Given the description of an element on the screen output the (x, y) to click on. 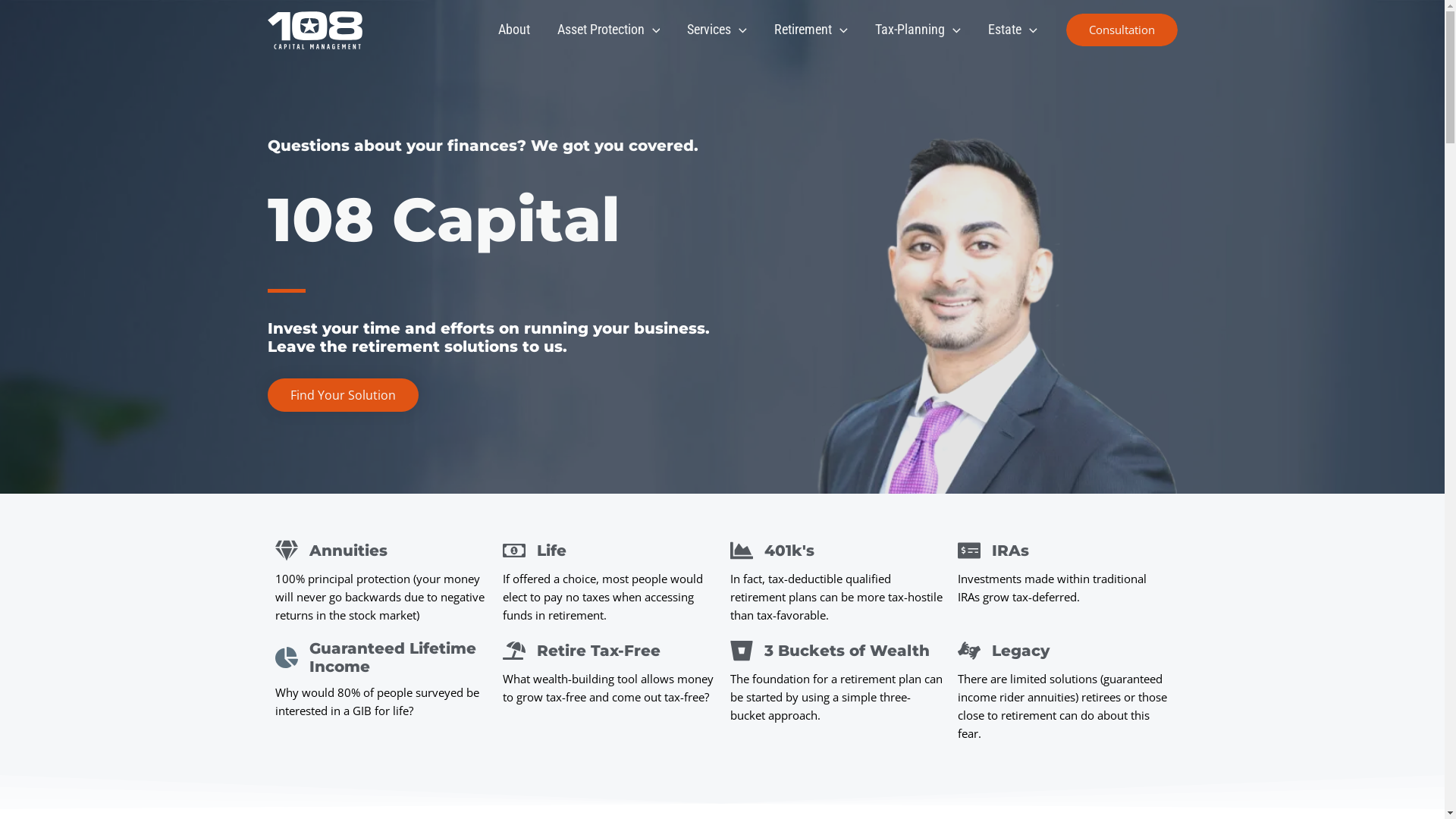
Life Element type: text (551, 550)
Retire Tax-Free Element type: text (598, 650)
Services Element type: text (716, 29)
Tax-Planning Element type: text (917, 29)
3 Buckets of Wealth Element type: text (846, 650)
Legacy Element type: text (1020, 650)
About Element type: text (513, 29)
Asset Protection Element type: text (608, 29)
IRAs Element type: text (1010, 550)
Guaranteed Lifetime Income Element type: text (392, 657)
Headshot Element type: hover (994, 313)
Consultation Element type: text (1121, 29)
Find Your Solution Element type: text (341, 394)
401k's Element type: text (789, 550)
Annuities Element type: text (348, 550)
Retirement Element type: text (810, 29)
Estate Element type: text (1012, 29)
